Given the description of an element on the screen output the (x, y) to click on. 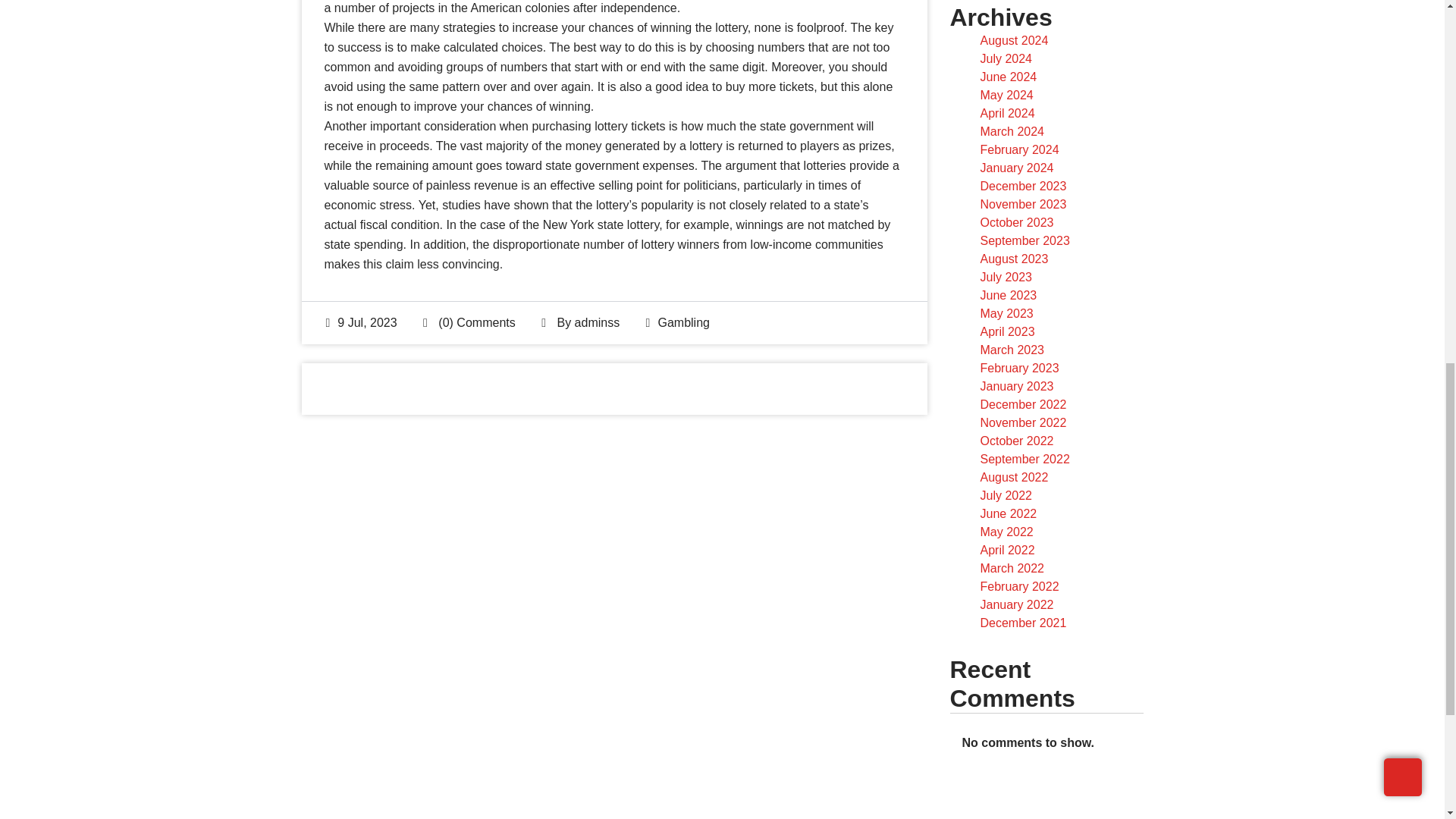
August 2023 (1013, 258)
April 2023 (1006, 331)
March 2023 (1011, 349)
March 2024 (1011, 131)
June 2024 (1007, 76)
May 2024 (1005, 94)
9 Jul, 2023 (361, 322)
February 2024 (1018, 149)
July 2024 (1005, 58)
November 2023 (1022, 204)
